Given the description of an element on the screen output the (x, y) to click on. 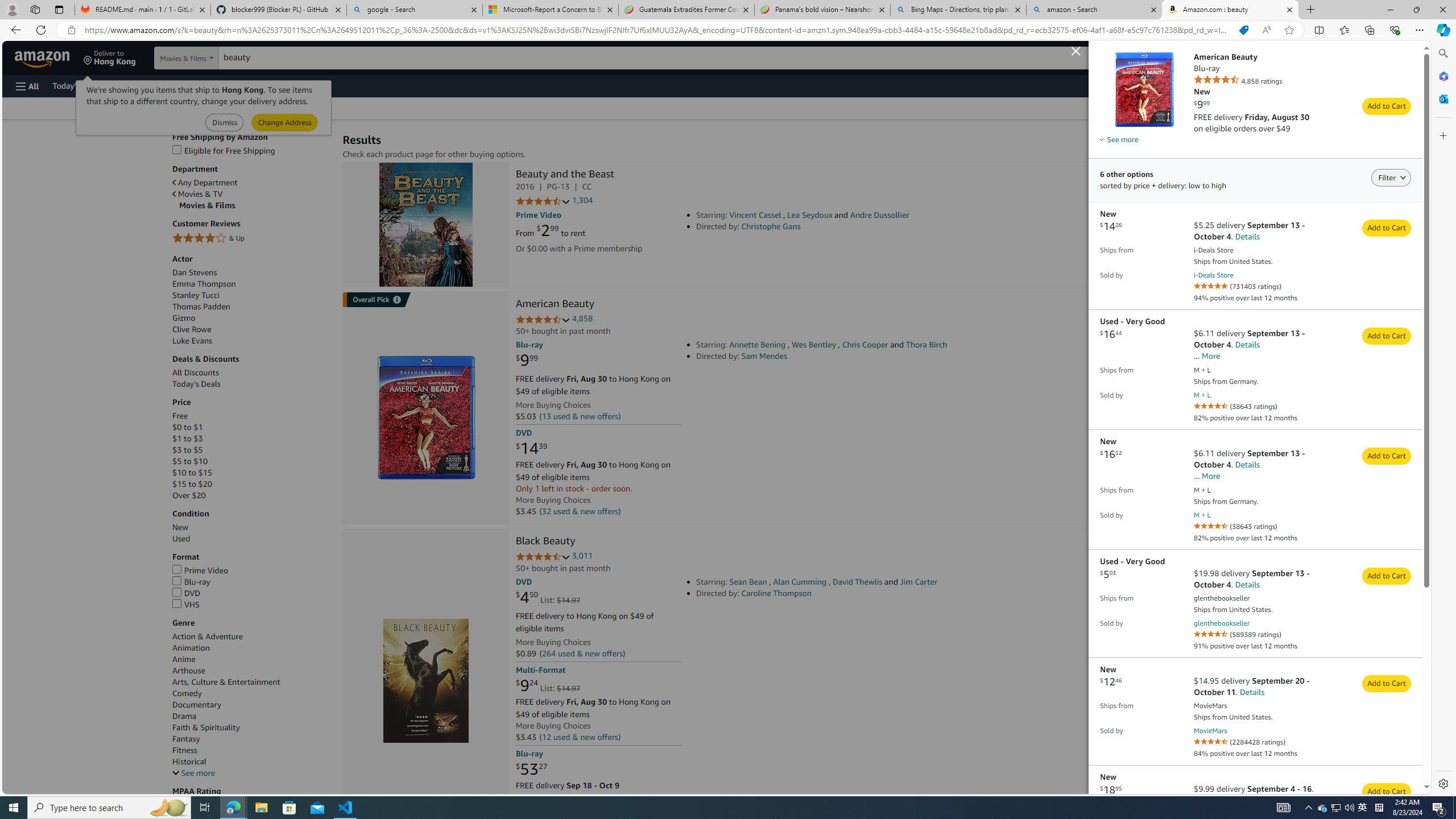
Fitness (184, 750)
DVD (251, 593)
Delete (1415, 245)
Jim Carter (918, 581)
amazon - Search (1094, 9)
New Tab (1311, 9)
Details (1393, 118)
Stanley Tucci (195, 294)
Customer Service (145, 85)
Blu-ray (251, 582)
Dan Stevens (193, 272)
$10 to $15 (251, 472)
Black Beauty (545, 541)
Choose a language for shopping. (1150, 57)
App bar (728, 29)
